Given the description of an element on the screen output the (x, y) to click on. 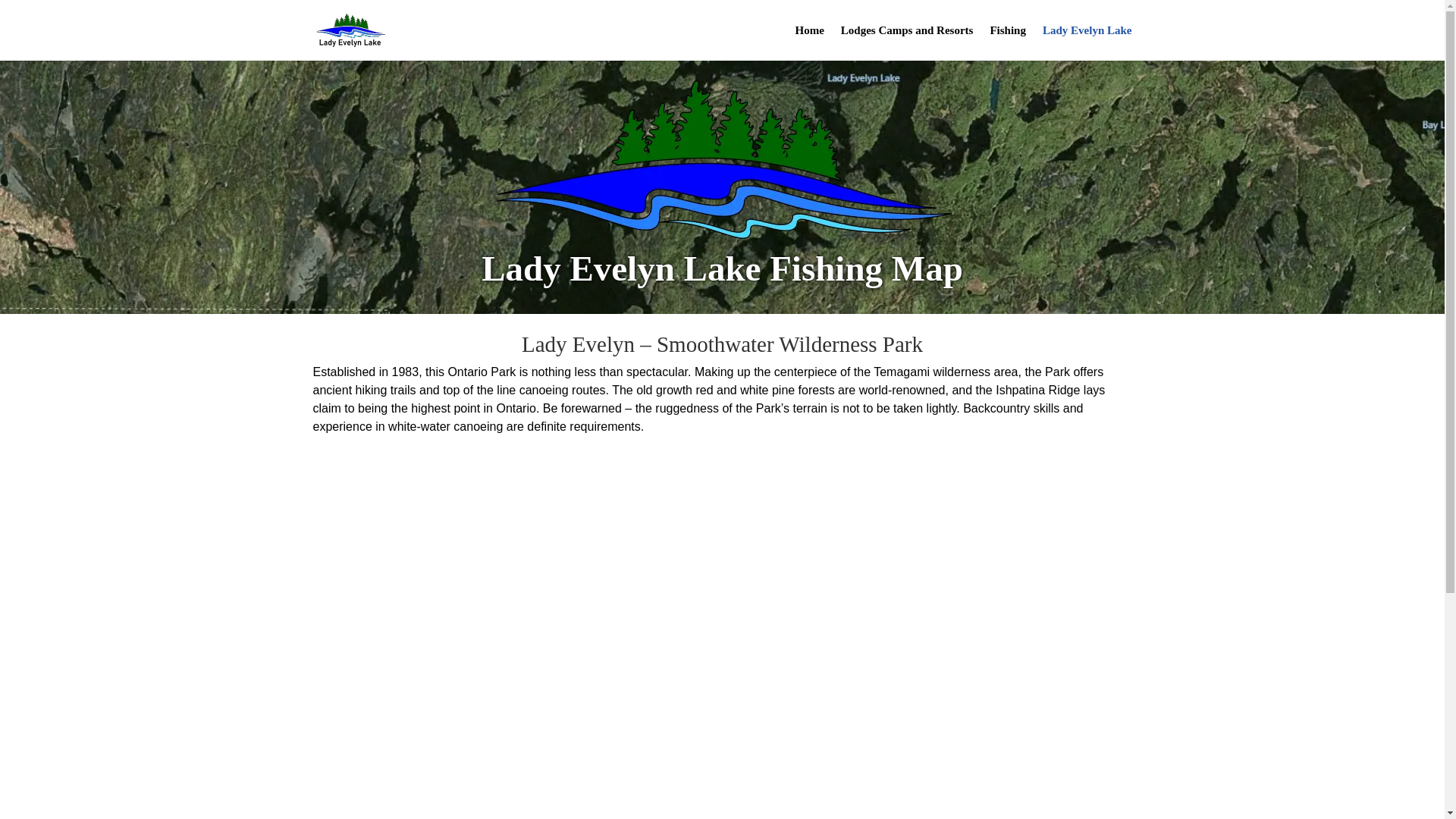
Fishing (1008, 42)
logo (721, 159)
Lady Evelyn Lake (1087, 42)
Lodges Camps and Resorts (907, 42)
